Given the description of an element on the screen output the (x, y) to click on. 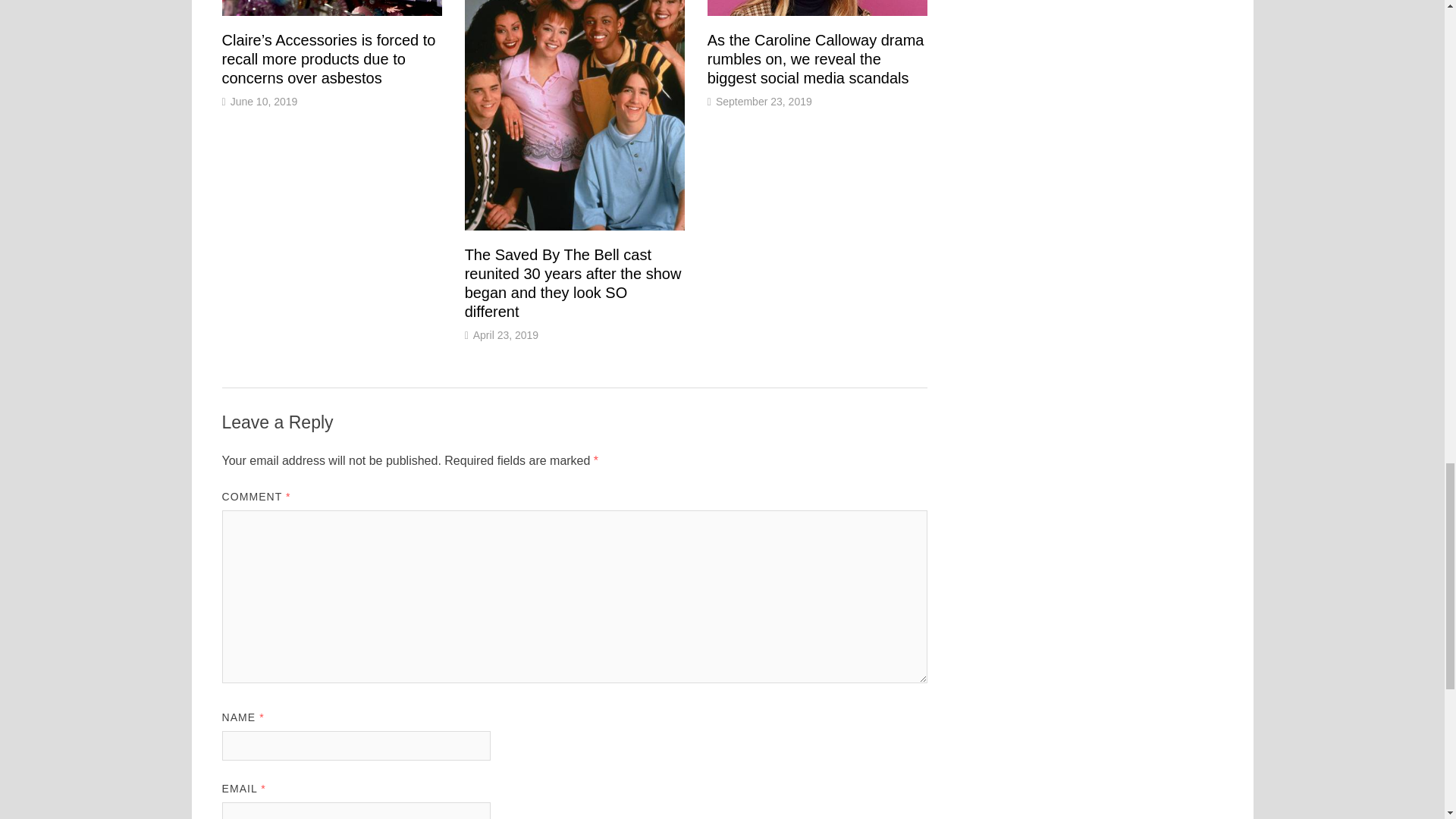
April 23, 2019 (505, 335)
September 23, 2019 (764, 101)
June 10, 2019 (264, 101)
